Given the description of an element on the screen output the (x, y) to click on. 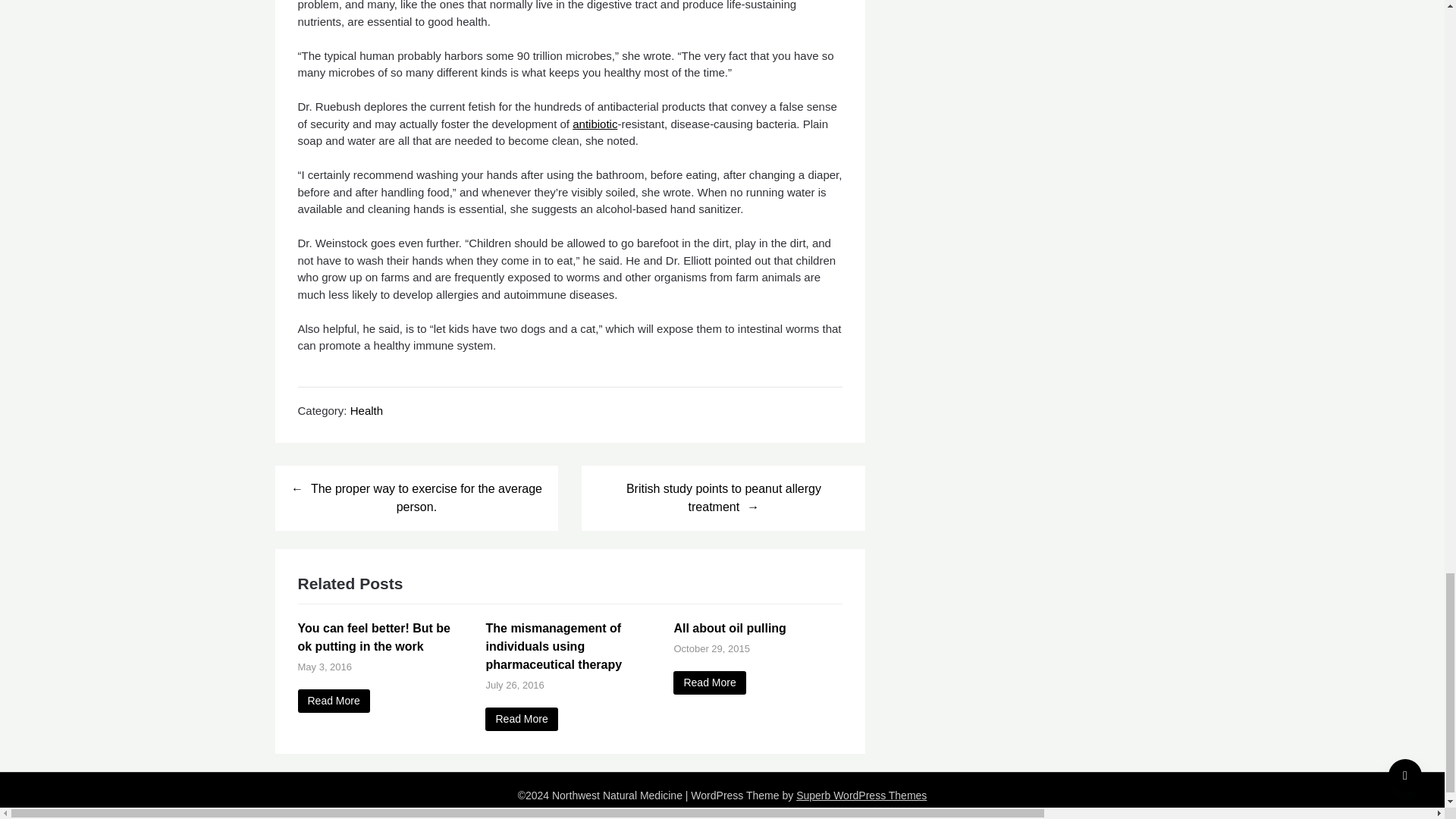
British study points to peanut allergy treatment (722, 498)
antibiotic (594, 123)
The proper way to exercise for the average person. (416, 498)
Superb WordPress Themes (861, 795)
You can feel better! But be ok putting in the work (373, 636)
Read More (333, 700)
Health (366, 410)
All about oil pulling (729, 627)
You can feel better! But be ok putting in the work (333, 700)
Read More (708, 682)
Recent and archival health news about antibiotics. (594, 123)
Read More (520, 719)
